Given the description of an element on the screen output the (x, y) to click on. 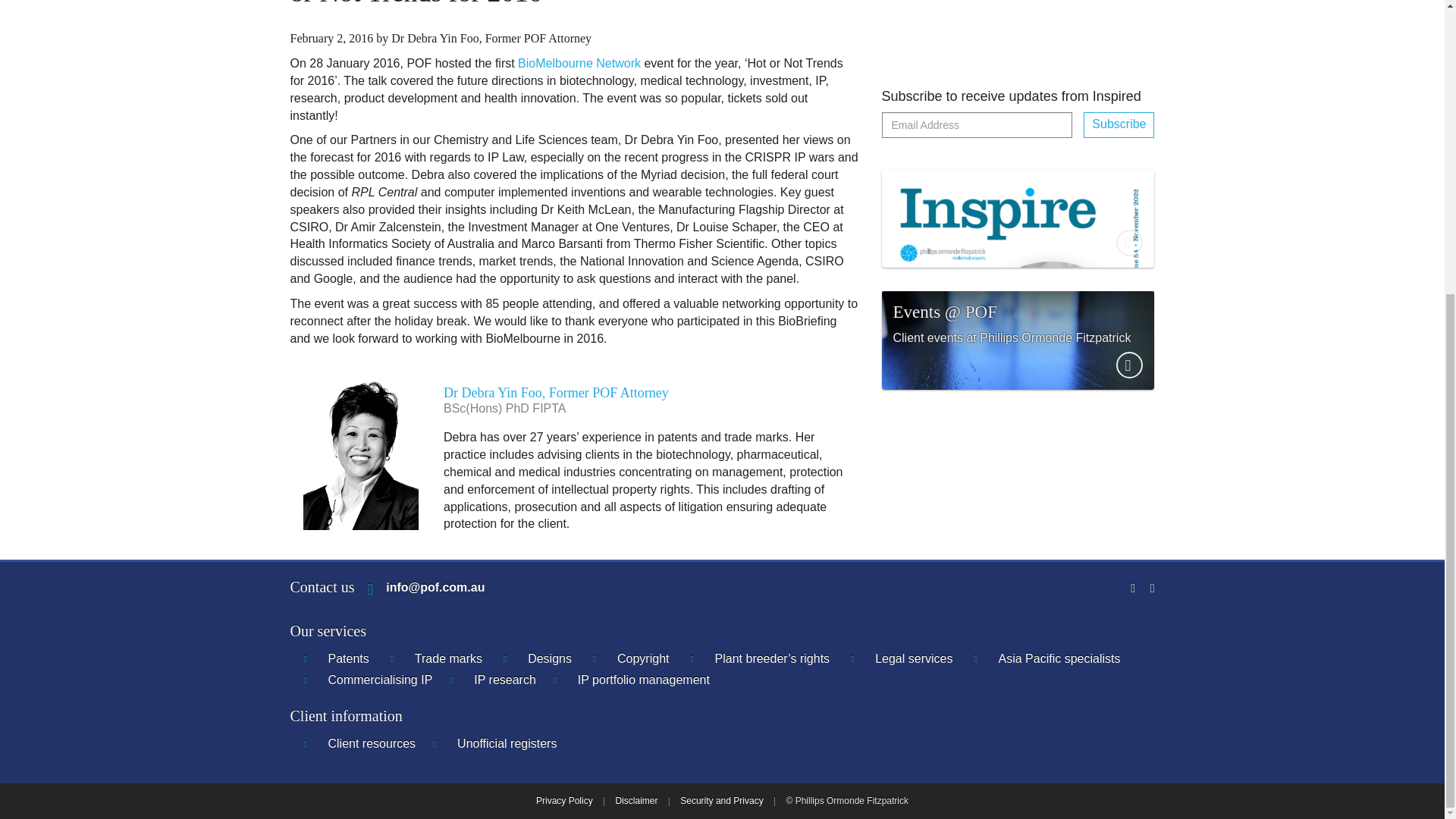
Subscribe (1118, 4)
